Given the description of an element on the screen output the (x, y) to click on. 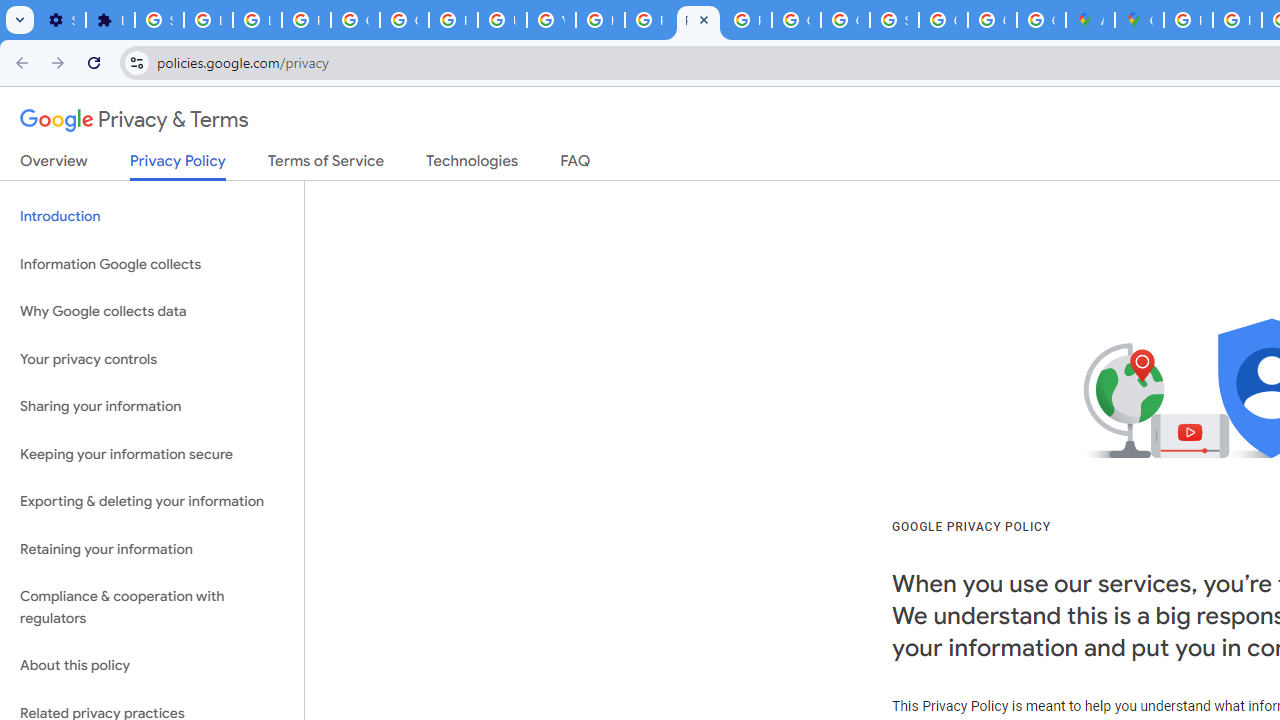
FAQ (575, 165)
Create your Google Account (1041, 20)
